Given the description of an element on the screen output the (x, y) to click on. 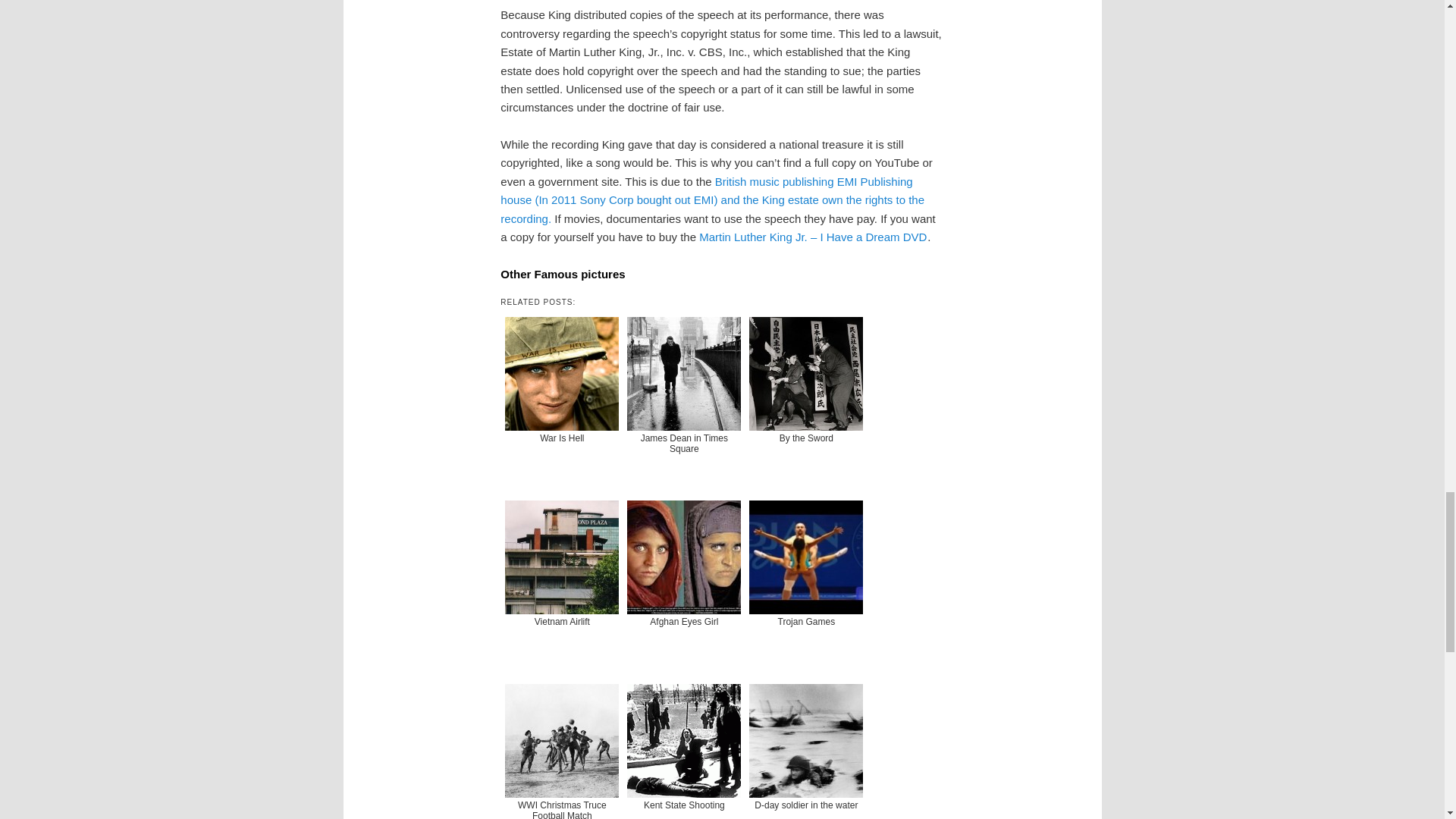
James Dean in Times Square (684, 402)
Afghan Eyes Girl (684, 585)
Vietnam Airlift (561, 585)
By the Sword (805, 402)
Trojan Games (805, 585)
WWI Christmas Truce Football Match (561, 749)
D-day soldier in the water (805, 749)
Kent State Shooting (684, 749)
War Is Hell (561, 402)
